Given the description of an element on the screen output the (x, y) to click on. 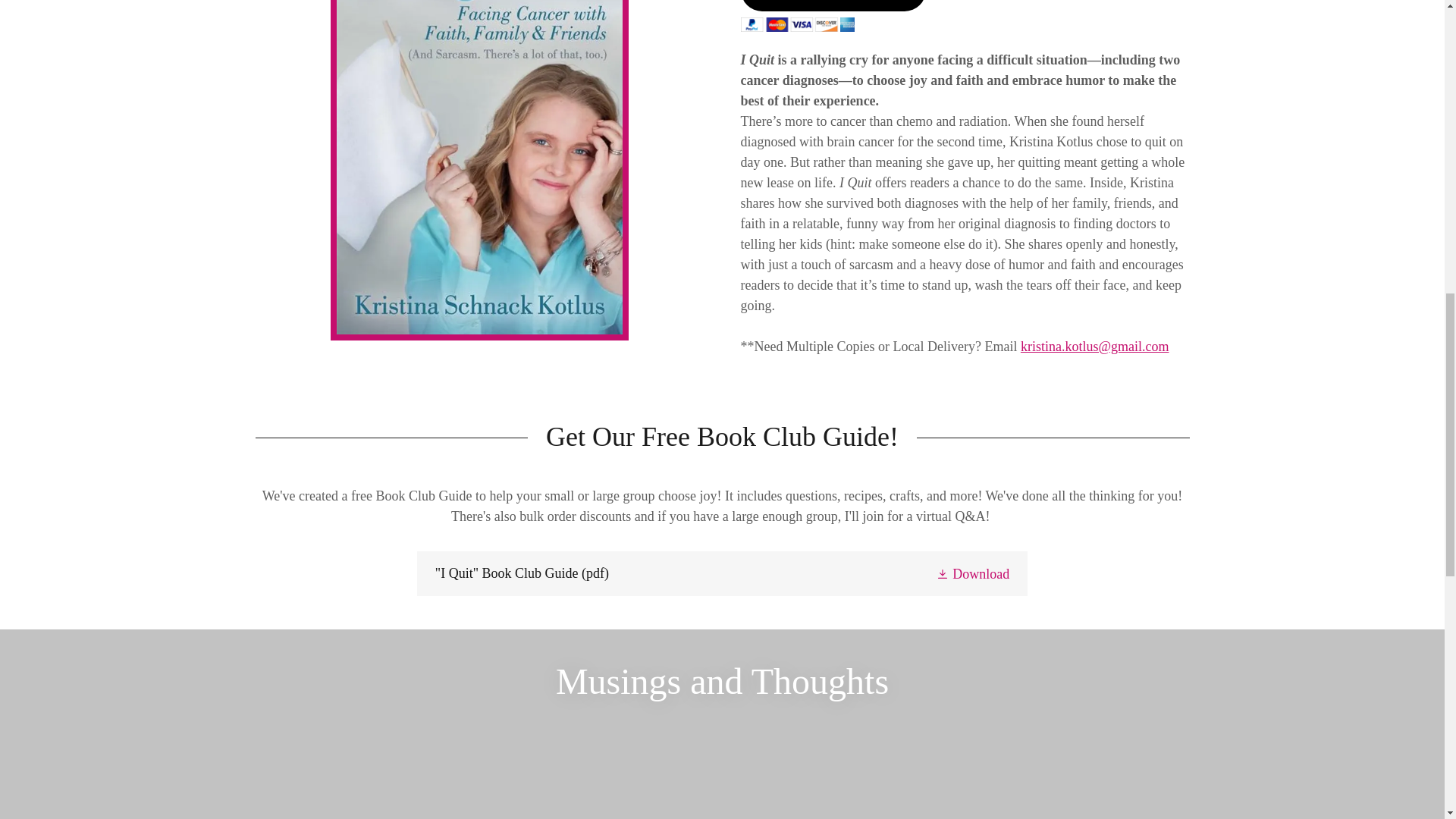
SEND MY COPY! (831, 5)
